Given the description of an element on the screen output the (x, y) to click on. 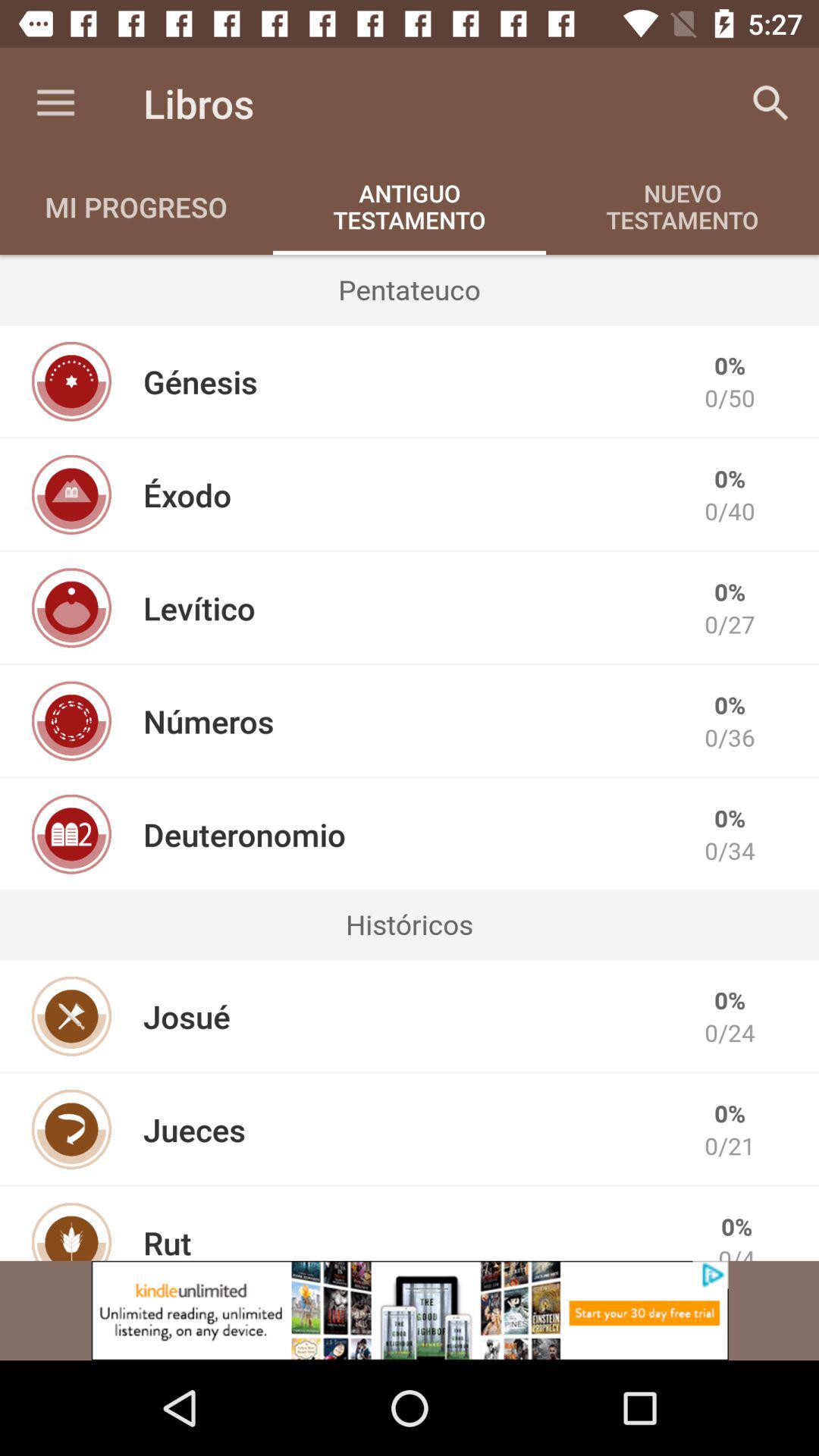
press the jueces icon (194, 1129)
